Given the description of an element on the screen output the (x, y) to click on. 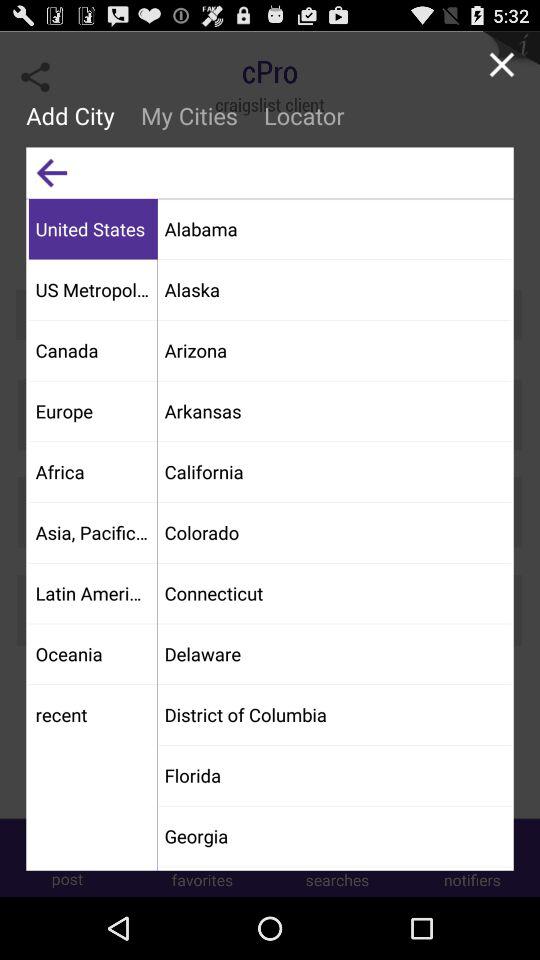
scroll until the latin america and app (92, 592)
